Given the description of an element on the screen output the (x, y) to click on. 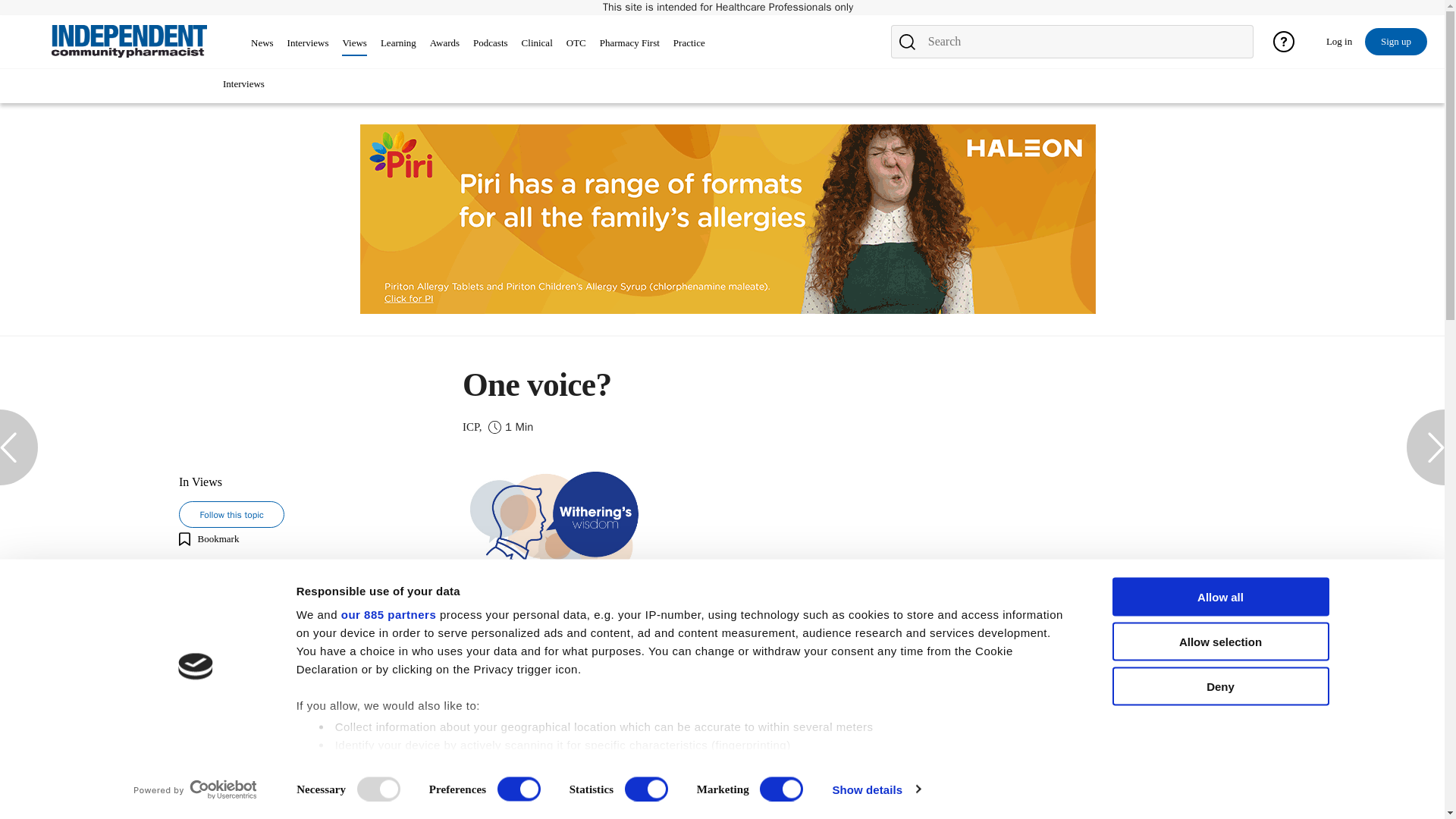
details section (825, 765)
our 885 partners (388, 614)
Show details (875, 789)
